Given the description of an element on the screen output the (x, y) to click on. 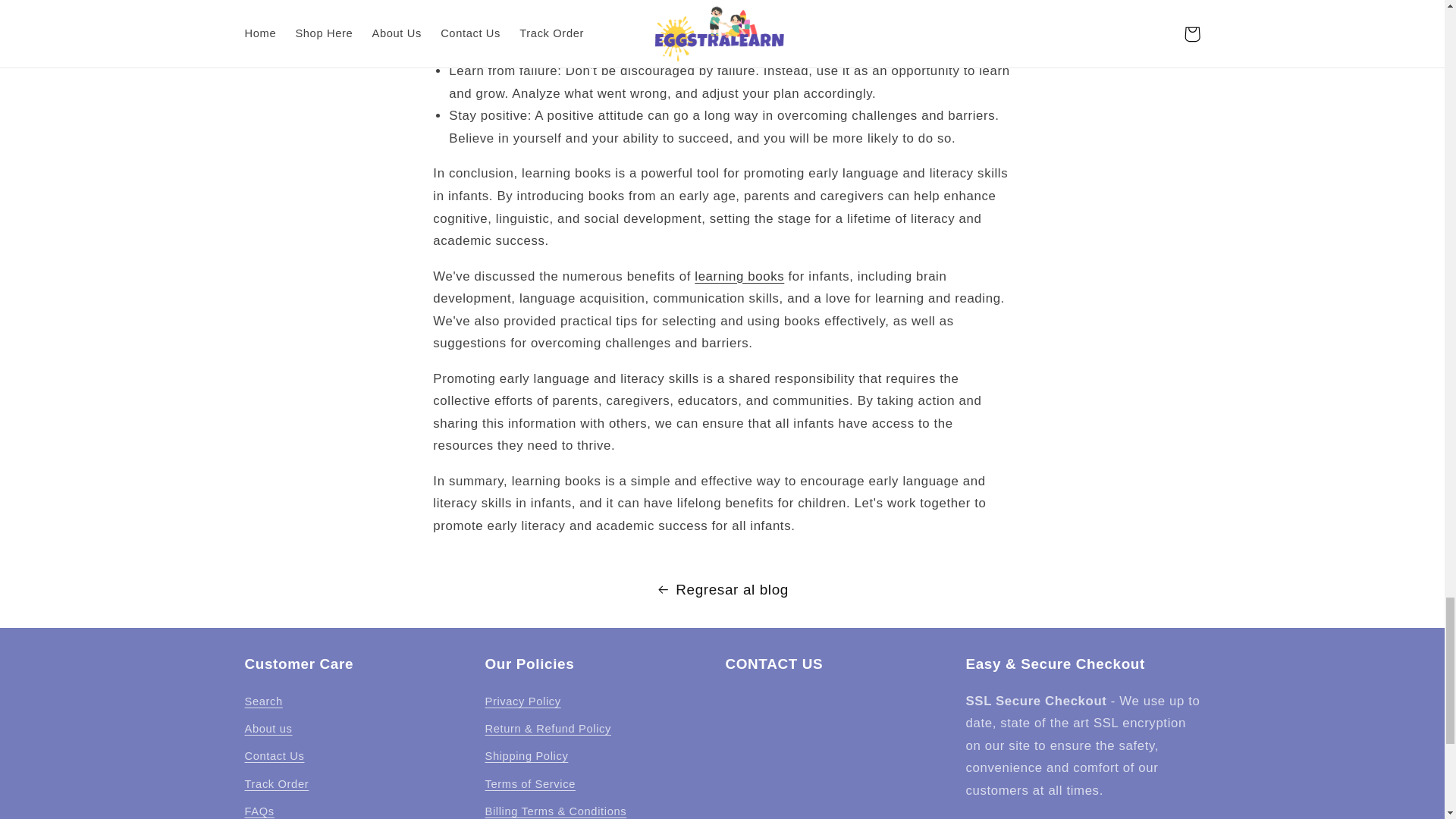
Shipping Policy (526, 756)
Terms of Service (529, 784)
learning books (739, 276)
Search (263, 703)
Privacy Policy (522, 703)
Track Order (276, 784)
About us (268, 728)
FAQs (258, 808)
Contact Us (274, 756)
